Given the description of an element on the screen output the (x, y) to click on. 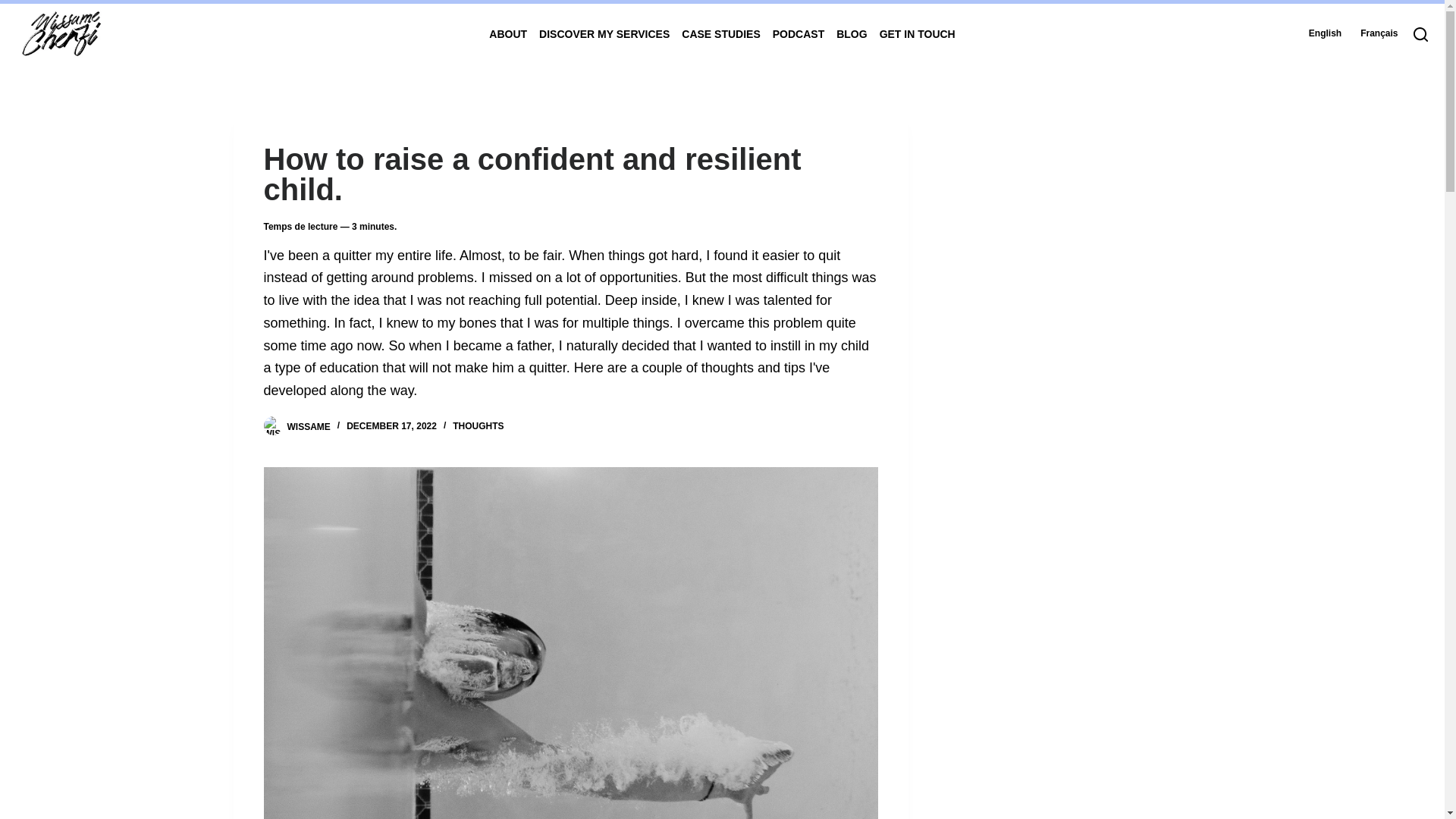
PODCAST (798, 33)
GET IN TOUCH (914, 33)
DISCOVER MY SERVICES (603, 33)
Skip to content (15, 7)
WISSAME (308, 425)
CASE STUDIES (720, 33)
THOUGHTS (477, 425)
How to raise a confident and resilient child. (570, 174)
Posts by Wissame (308, 425)
